Given the description of an element on the screen output the (x, y) to click on. 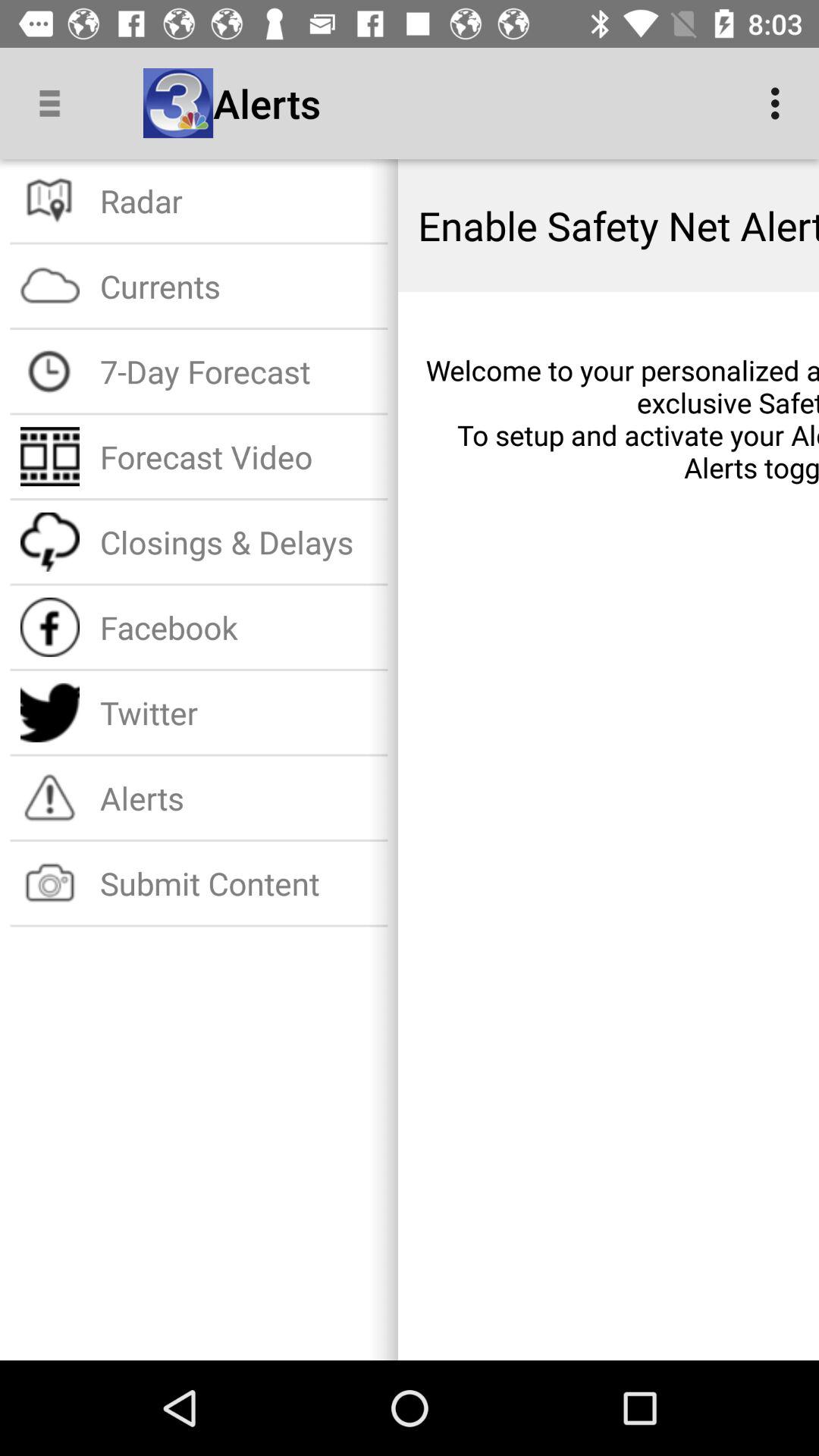
tap item below radar (238, 285)
